Given the description of an element on the screen output the (x, y) to click on. 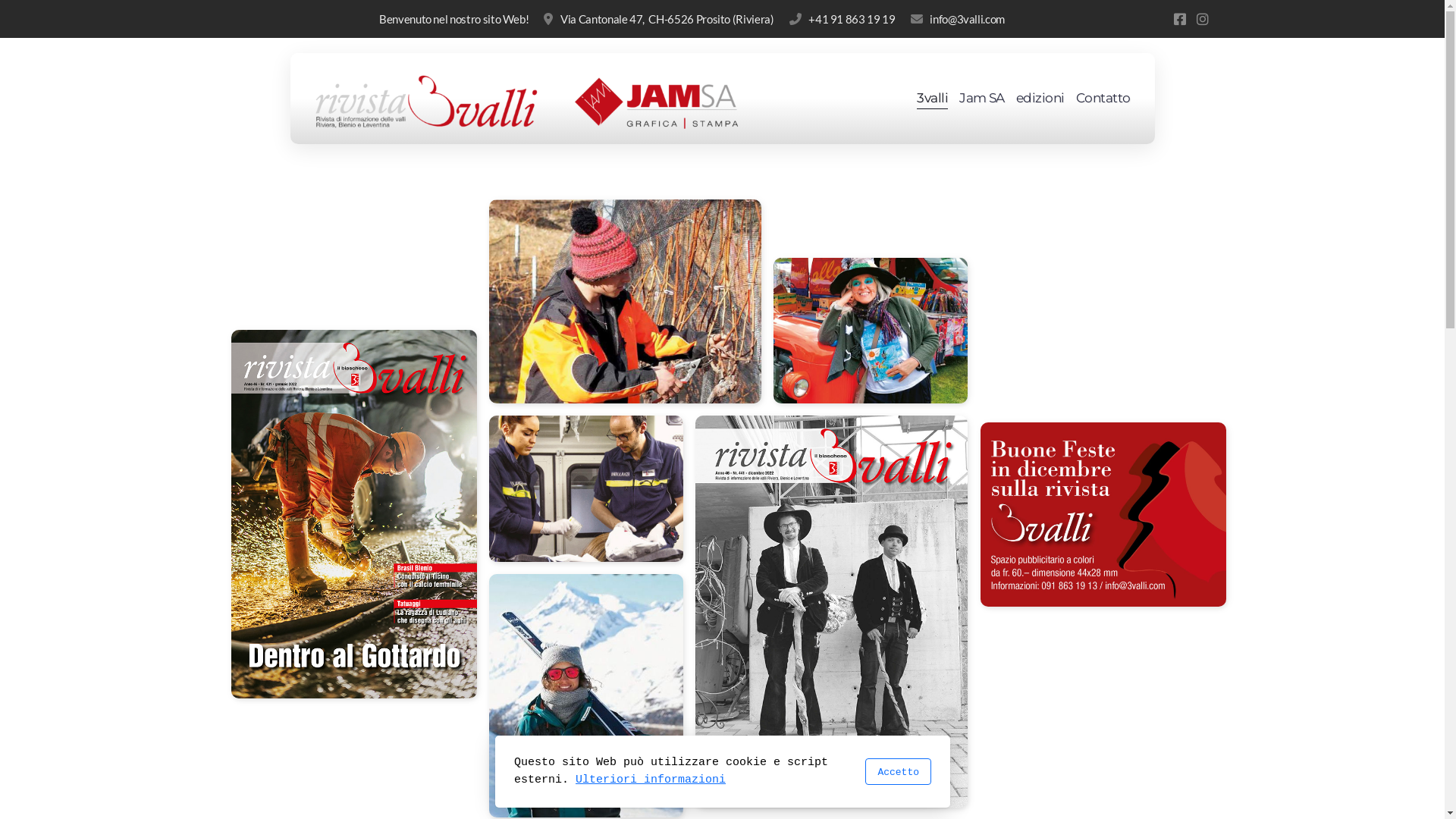
Jam SA Element type: text (981, 98)
3valli Element type: text (931, 98)
info@3valli.com Element type: text (957, 18)
Contatto Element type: text (1103, 98)
Ulteriori informazioni Element type: text (650, 779)
Accetto Element type: text (898, 771)
+41 91 863 19 19 Element type: text (842, 18)
Via Cantonale 47,  CH-6526 Prosito (Riviera) Element type: text (658, 18)
edizioni Element type: text (1040, 98)
